Given the description of an element on the screen output the (x, y) to click on. 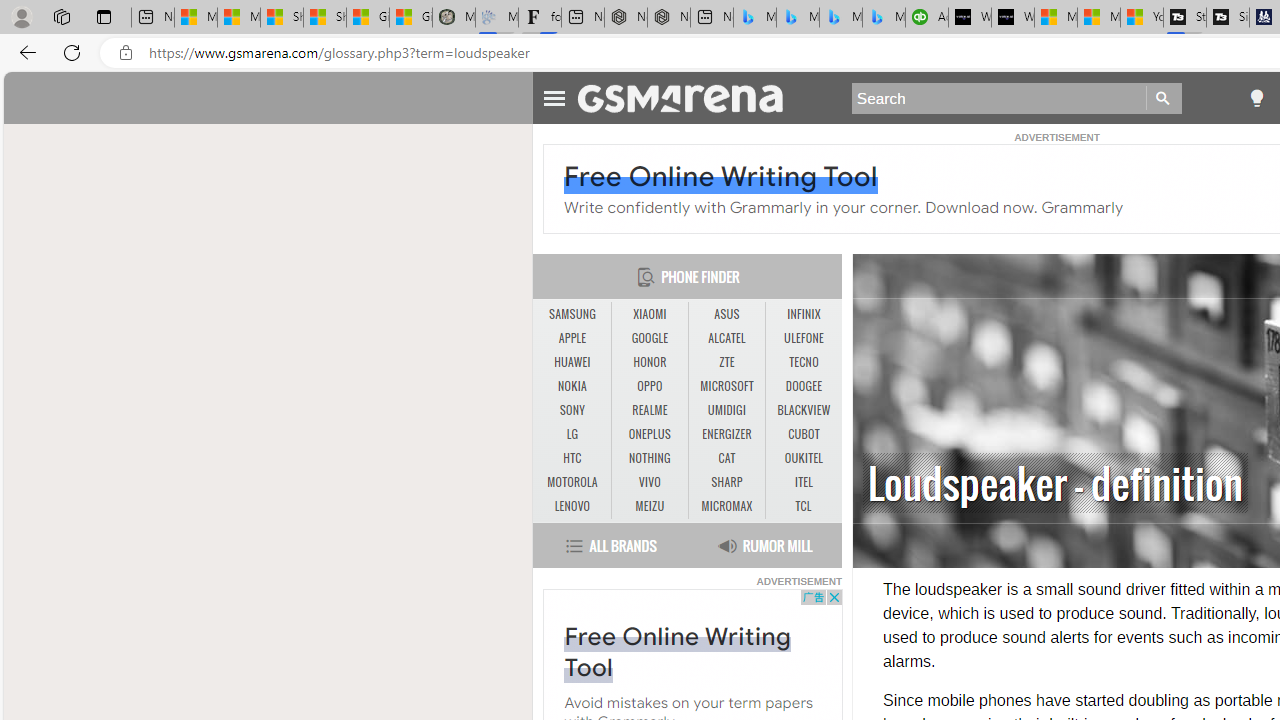
Microsoft Bing Travel - Stays in Bangkok, Bangkok, Thailand (798, 17)
CAT (726, 457)
REALME (649, 410)
MOTOROLA (571, 482)
XIAOMI (649, 313)
OPPO (649, 386)
LENOVO (571, 506)
INFINIX (803, 314)
LENOVO (571, 506)
TECNO (803, 362)
